Given the description of an element on the screen output the (x, y) to click on. 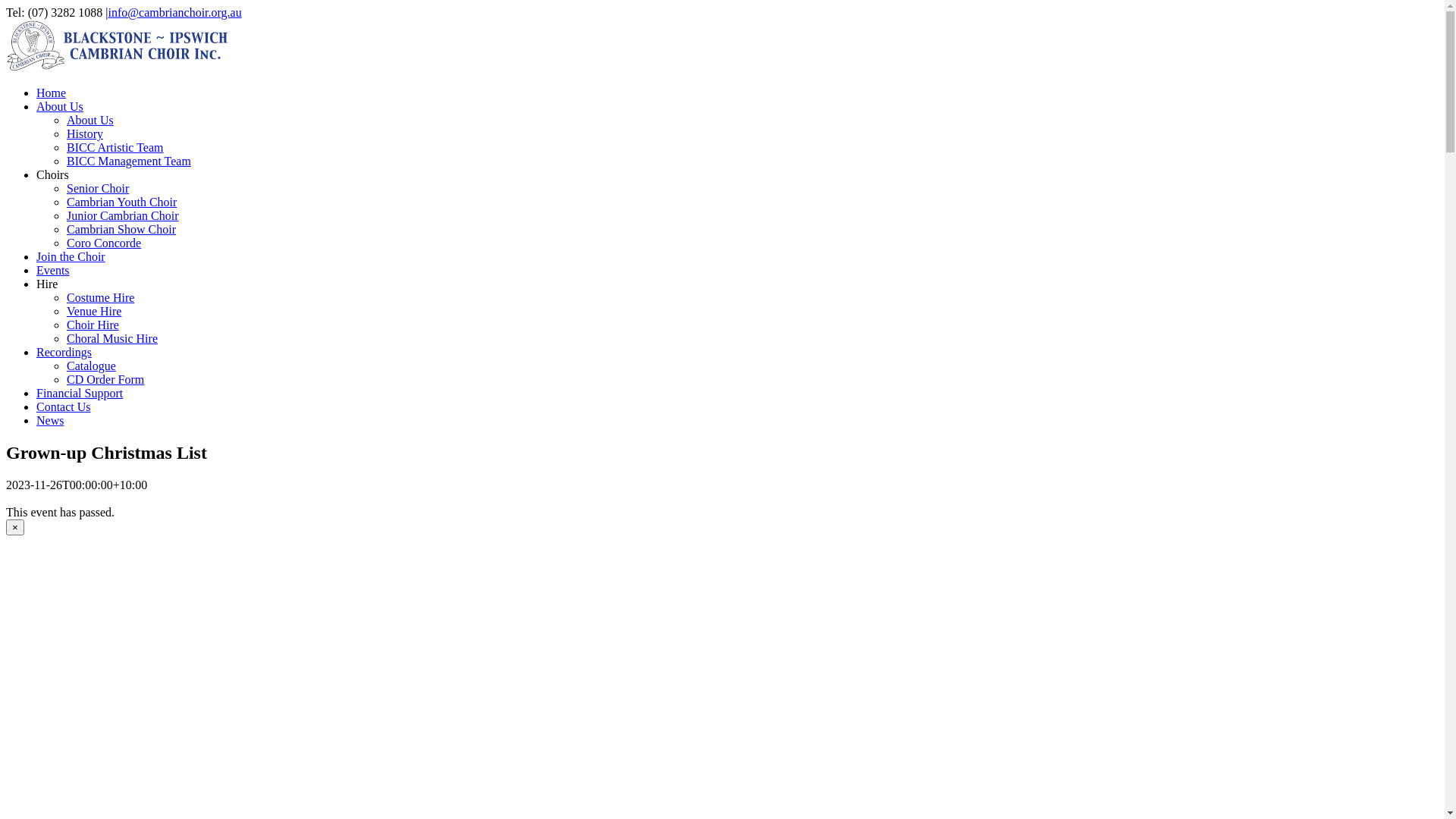
CD Order Form Element type: text (105, 379)
Cambrian Show Choir Element type: text (120, 228)
Coro Concorde Element type: text (103, 242)
BICC Artistic Team Element type: text (114, 147)
History Element type: text (84, 133)
Venue Hire Element type: text (93, 310)
About Us Element type: text (89, 119)
News Element type: text (49, 420)
Events Element type: text (52, 269)
Catalogue Element type: text (91, 365)
Cambrian Youth Choir Element type: text (121, 201)
Choir Hire Element type: text (92, 324)
Home Element type: text (50, 92)
Join the Choir Element type: text (70, 256)
About Us Element type: text (59, 106)
info@cambrianchoir.org.au Element type: text (174, 12)
BICC Management Team Element type: text (128, 160)
Costume Hire Element type: text (100, 297)
Contact Us Element type: text (63, 406)
Financial Support Element type: text (79, 392)
Recordings Element type: text (63, 351)
Choral Music Hire Element type: text (111, 338)
Choirs Element type: text (52, 174)
Senior Choir Element type: text (97, 188)
Hire Element type: text (46, 283)
Junior Cambrian Choir Element type: text (122, 215)
Skip to content Element type: text (5, 5)
